Given the description of an element on the screen output the (x, y) to click on. 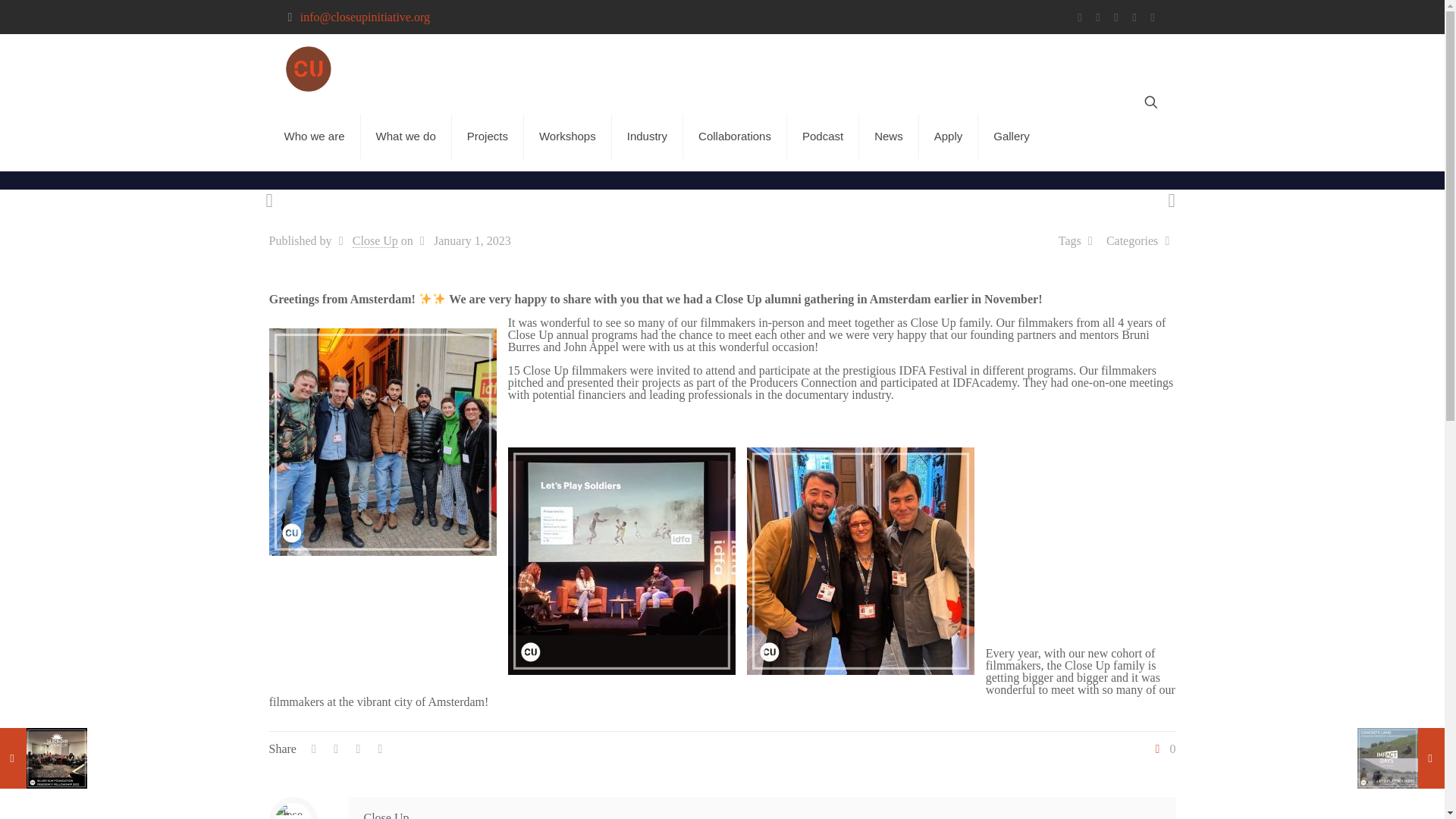
Projects (487, 136)
YouTube (1116, 17)
Workshops (567, 136)
Collaborations (734, 136)
Podcast (823, 136)
Twitter (1098, 17)
Industry (646, 136)
LinkedIn (1134, 17)
Facebook (1080, 17)
What we do (406, 136)
